Given the description of an element on the screen output the (x, y) to click on. 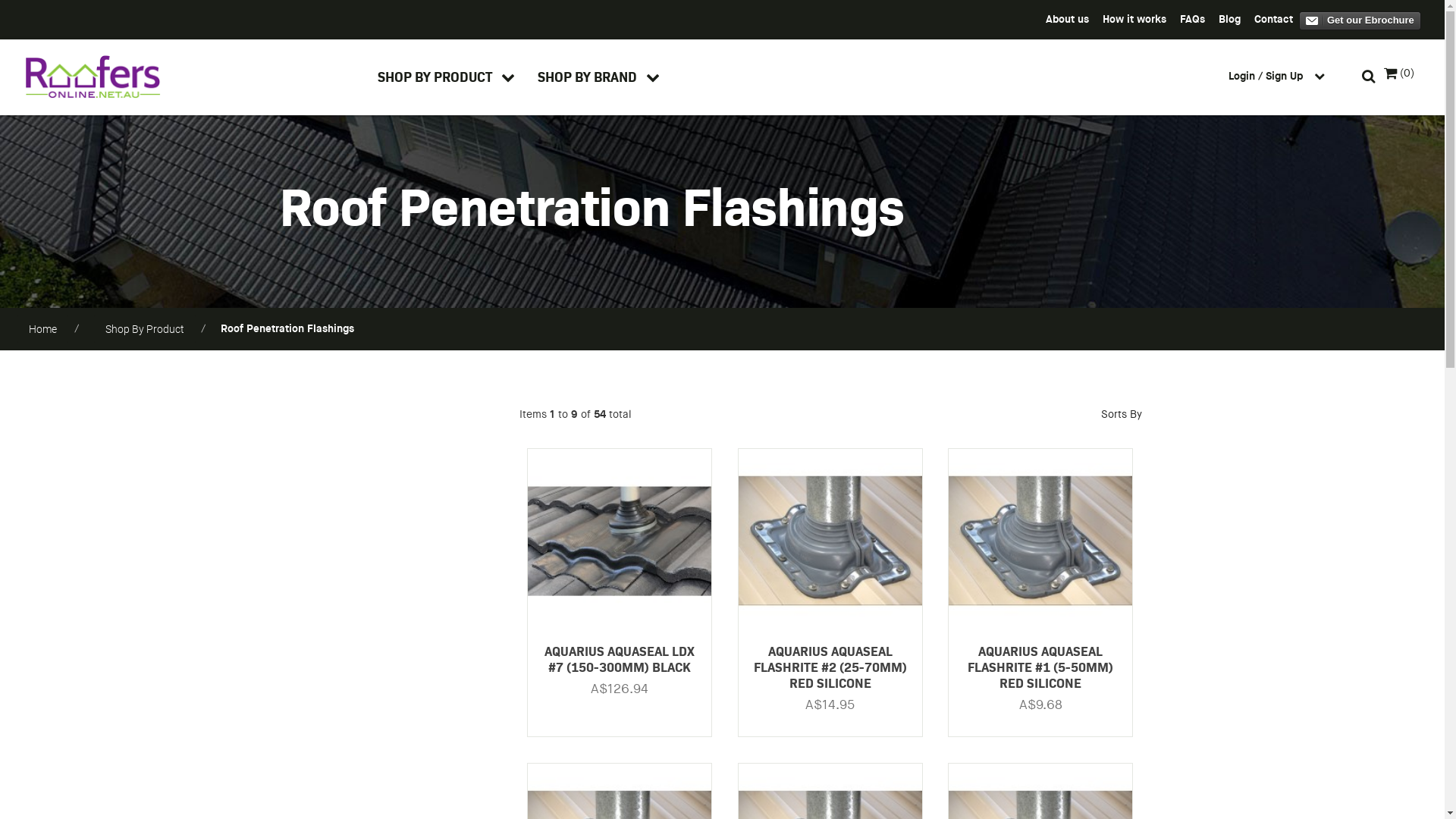
FAQs Element type: text (1191, 18)
Shop By Product Element type: text (144, 328)
Home Element type: text (42, 328)
AQUARIUS AQUASEAL FLASHRITE #2 (25-70MM) RED SILICONE Element type: text (829, 666)
(0) Element type: text (1398, 73)
How it works Element type: text (1134, 18)
Login / Sign Up    Element type: text (1281, 76)
Contact Element type: text (1273, 18)
Aquarius Aquaseal LDX #7 (150-300mm) Black Element type: hover (619, 539)
Aquarius Aquaseal FlashRite #2 (25-70mm) Red Silicone Element type: hover (830, 539)
AQUARIUS AQUASEAL LDX #7 (150-300MM) BLACK Element type: text (619, 658)
Aquarius Aquaseal FlashRite #1 (5-50mm) Red Silicone Element type: hover (1040, 539)
SHOP BY BRAND    Element type: text (598, 75)
Preview Element type: hover (1359, 20)
SHOP BY PRODUCT    Element type: text (446, 75)
Blog Element type: text (1229, 18)
AQUARIUS AQUASEAL FLASHRITE #1 (5-50MM) RED SILICONE Element type: text (1040, 666)
About us Element type: text (1066, 18)
